Given the description of an element on the screen output the (x, y) to click on. 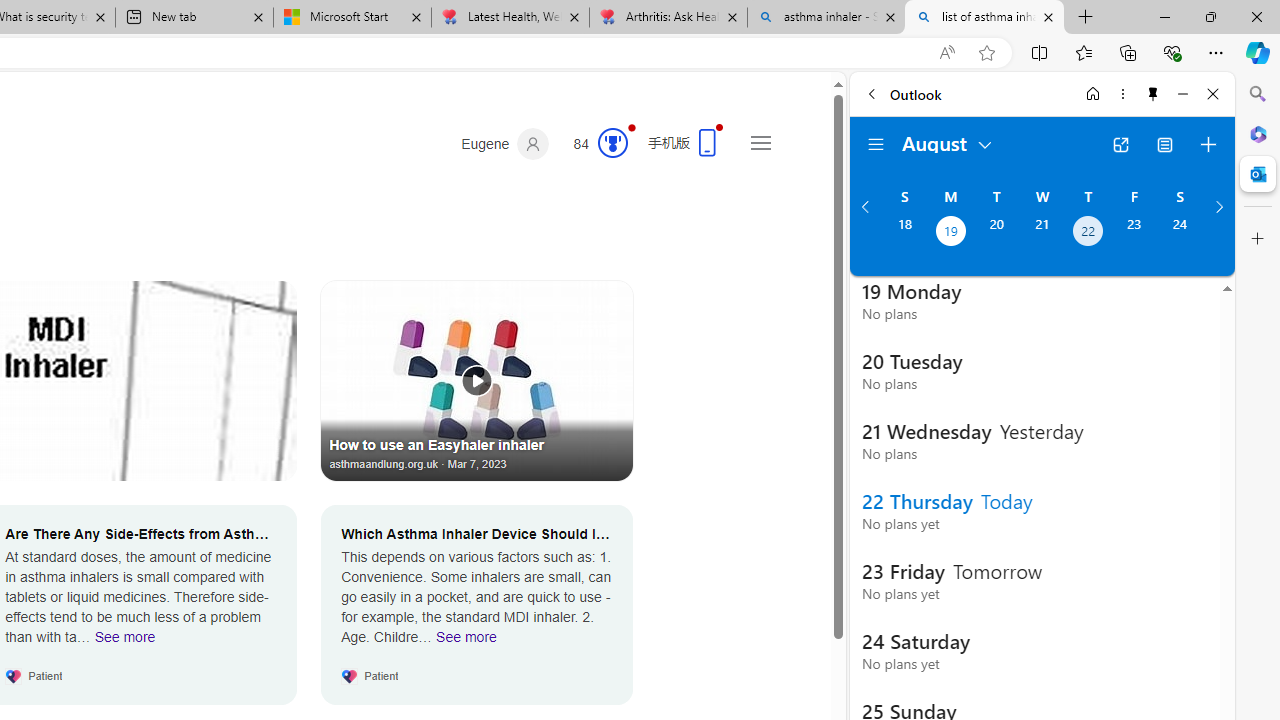
Arthritis: Ask Health Professionals (668, 17)
list of asthma inhalers uk - Search (984, 17)
Animation (632, 127)
How to use an Easyhaler inhaler (477, 380)
asthma inhaler - Search (825, 17)
Saturday, August 24, 2024.  (1180, 233)
